Given the description of an element on the screen output the (x, y) to click on. 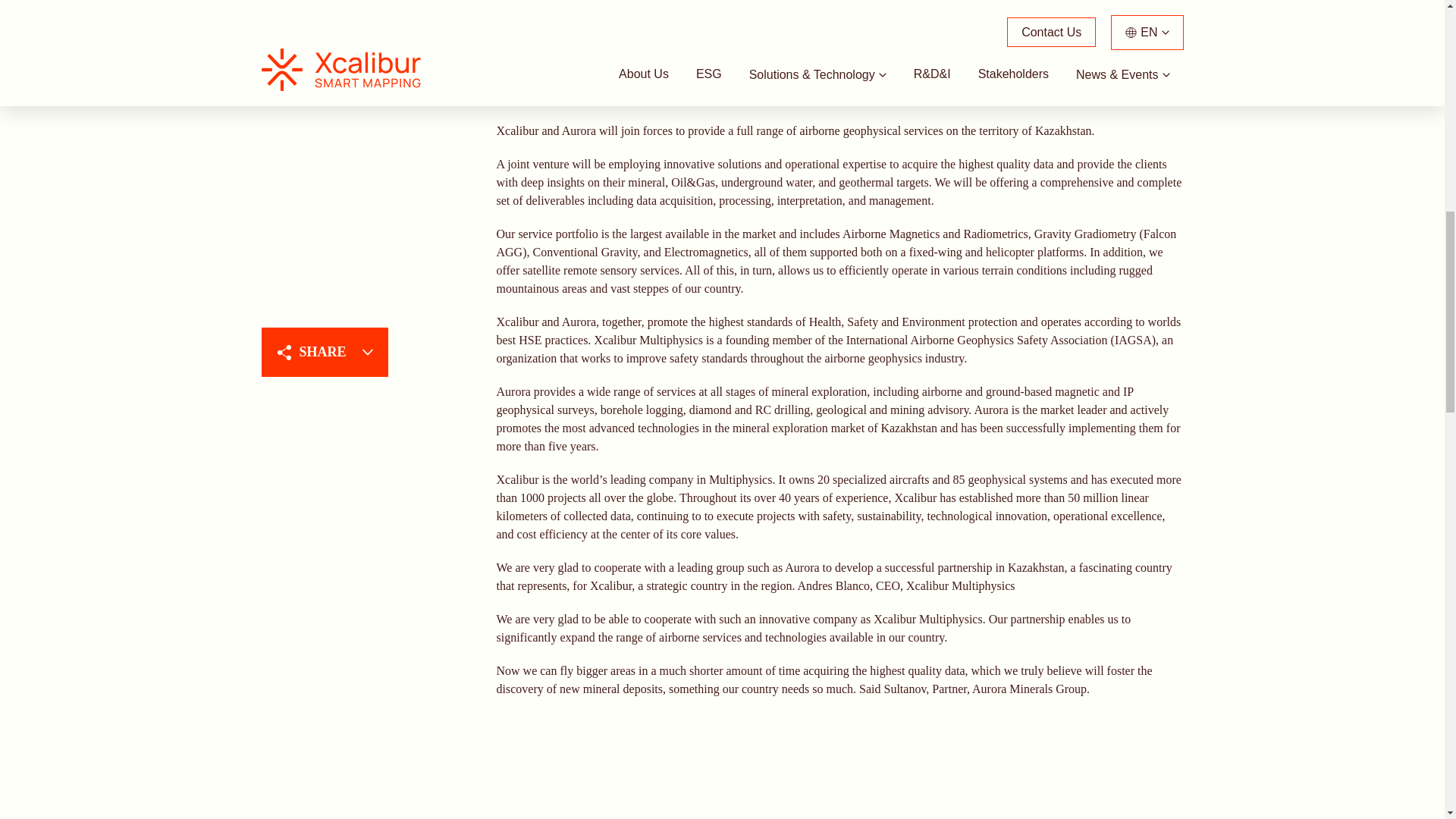
SHARE (323, 18)
